Given the description of an element on the screen output the (x, y) to click on. 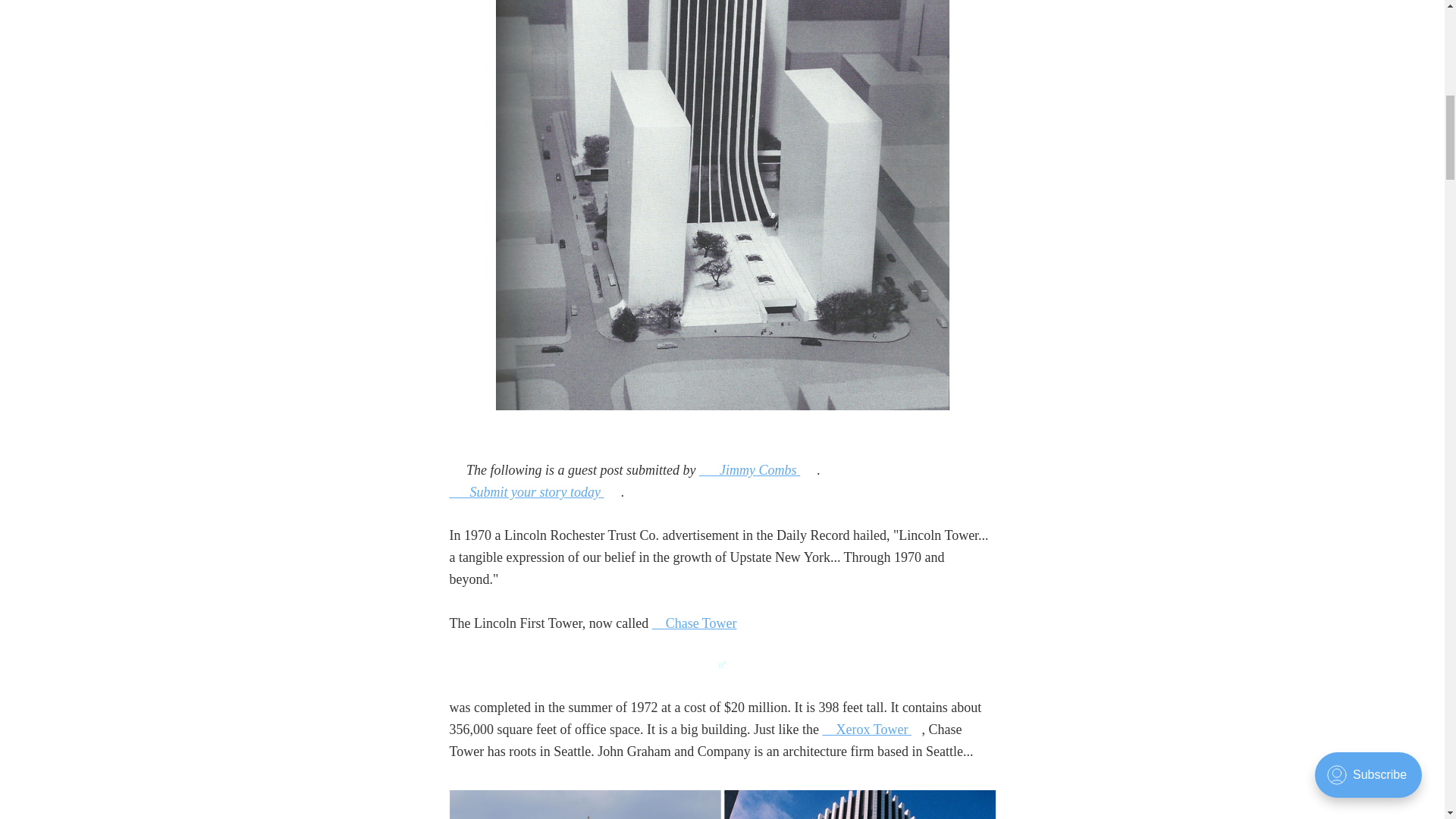
    Xerox Tower (866, 729)
      Submit your story today (526, 491)
    Chase Tower (694, 622)
      Jimmy Combs (748, 469)
